Given the description of an element on the screen output the (x, y) to click on. 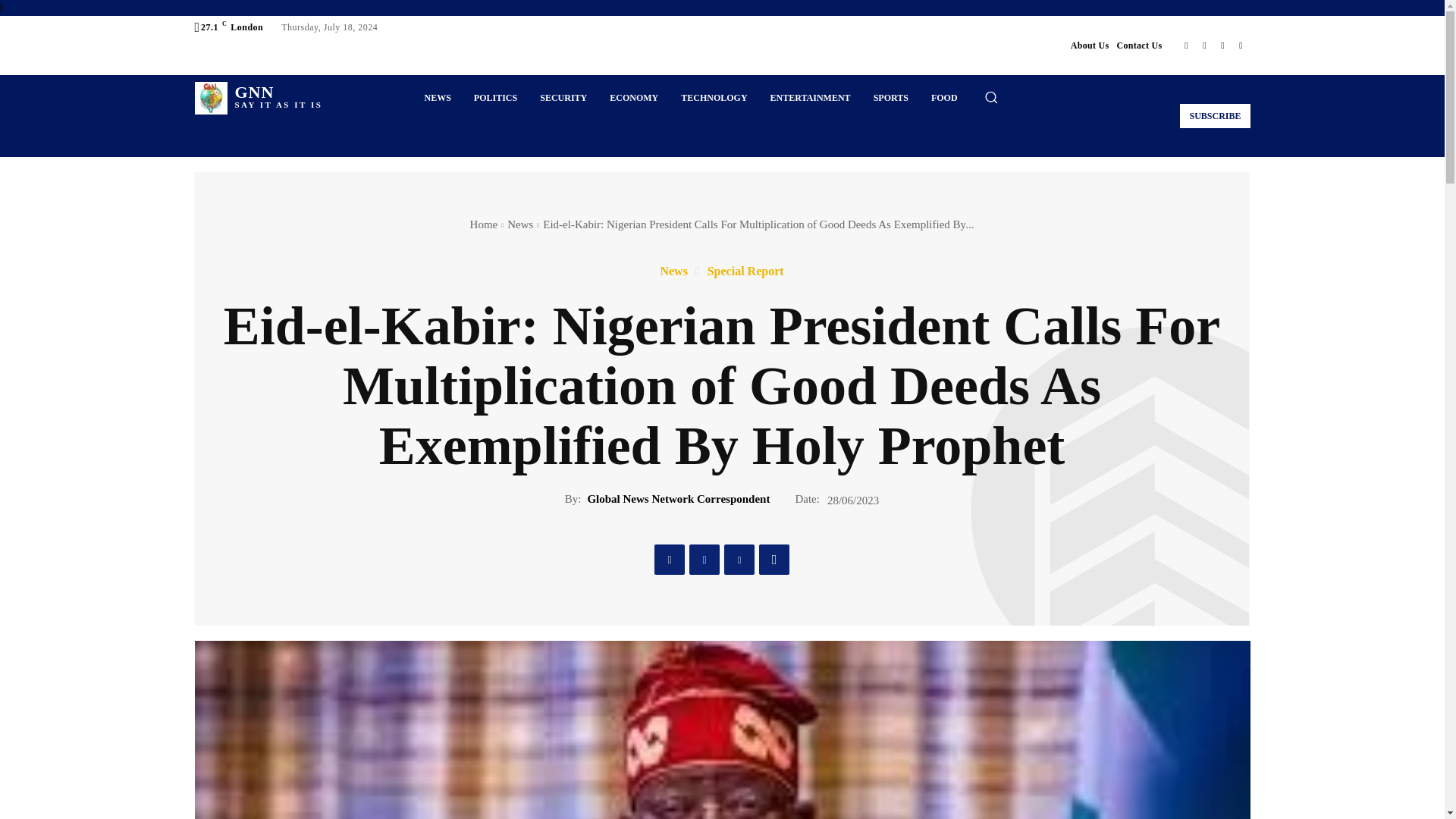
SECURITY (257, 97)
Twitter (563, 97)
ENTERTAINMENT (1221, 45)
Instagram (809, 97)
Facebook (1203, 45)
SPORTS (1185, 45)
Contact Us (890, 97)
About Us (1138, 45)
TECHNOLOGY (1089, 45)
POLITICS (713, 97)
NEWS (495, 97)
Youtube (436, 97)
FOOD (1240, 45)
Subscribe (944, 97)
